Given the description of an element on the screen output the (x, y) to click on. 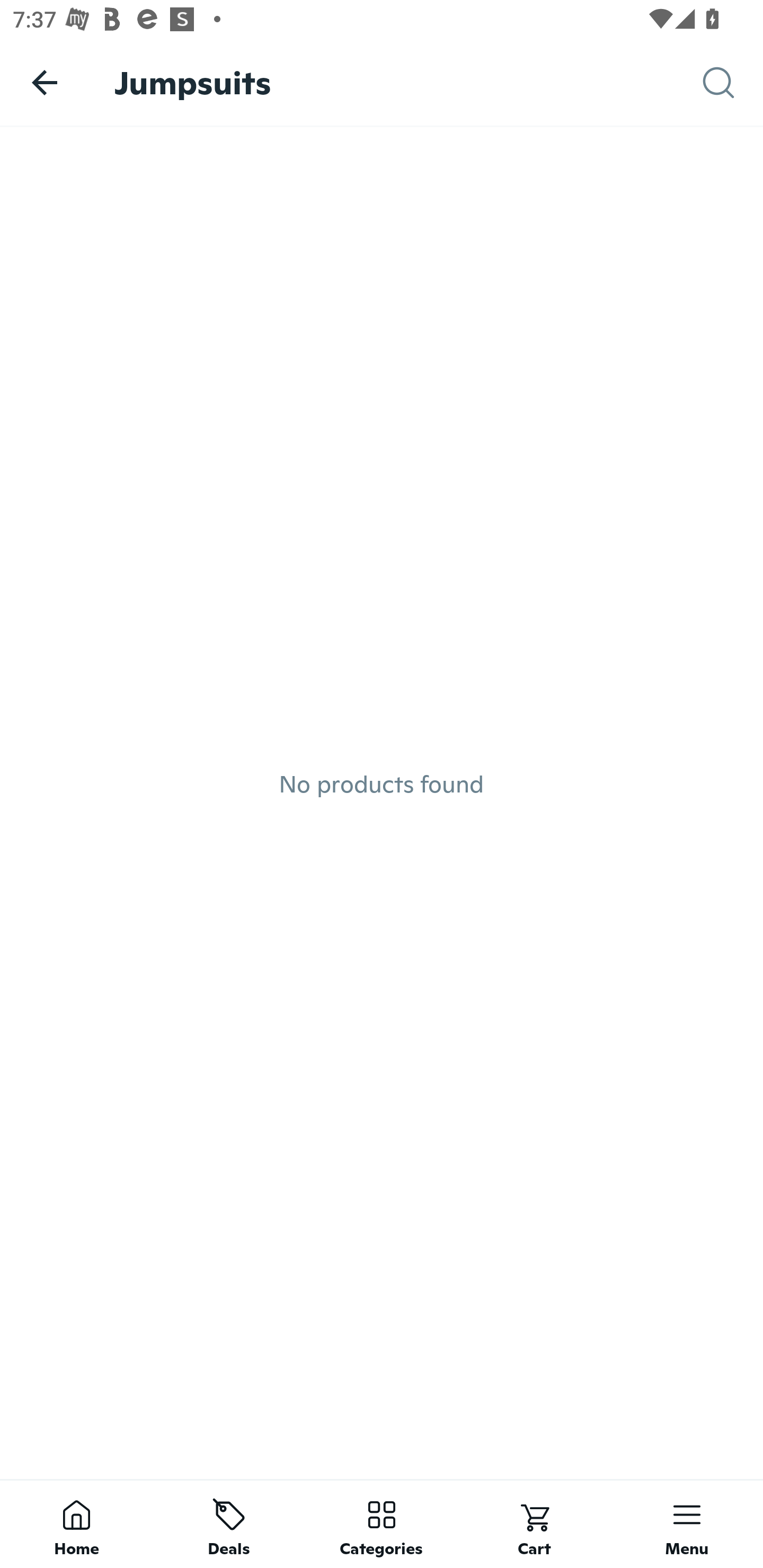
Navigate up (44, 82)
Search (732, 82)
Home (76, 1523)
Deals (228, 1523)
Categories (381, 1523)
Cart (533, 1523)
Menu (686, 1523)
